Given the description of an element on the screen output the (x, y) to click on. 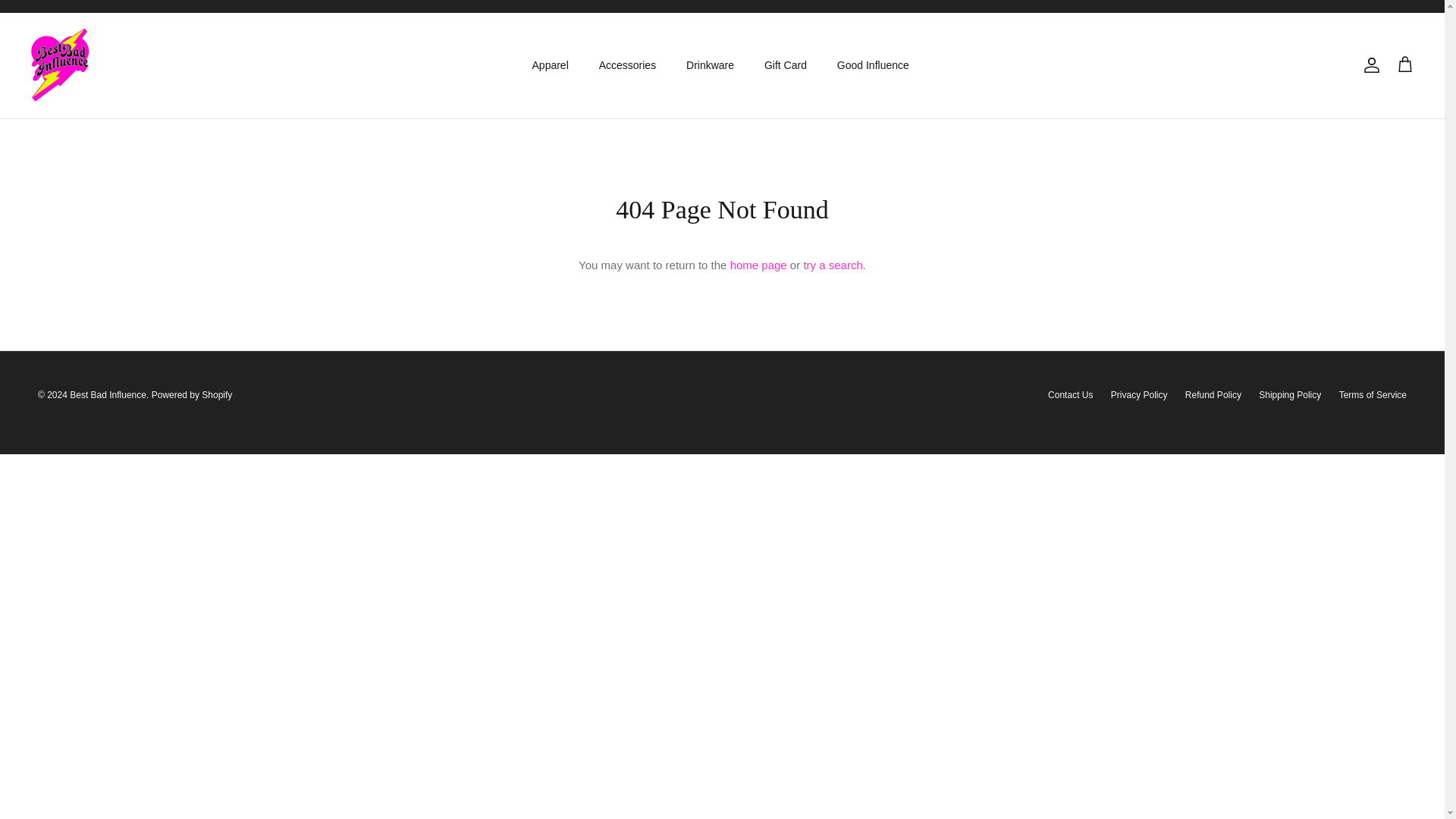
Drinkware (710, 65)
Gift Card (786, 65)
Cart (1404, 65)
Account (1368, 65)
Accessories (627, 65)
Good Influence (873, 65)
Apparel (550, 65)
